Given the description of an element on the screen output the (x, y) to click on. 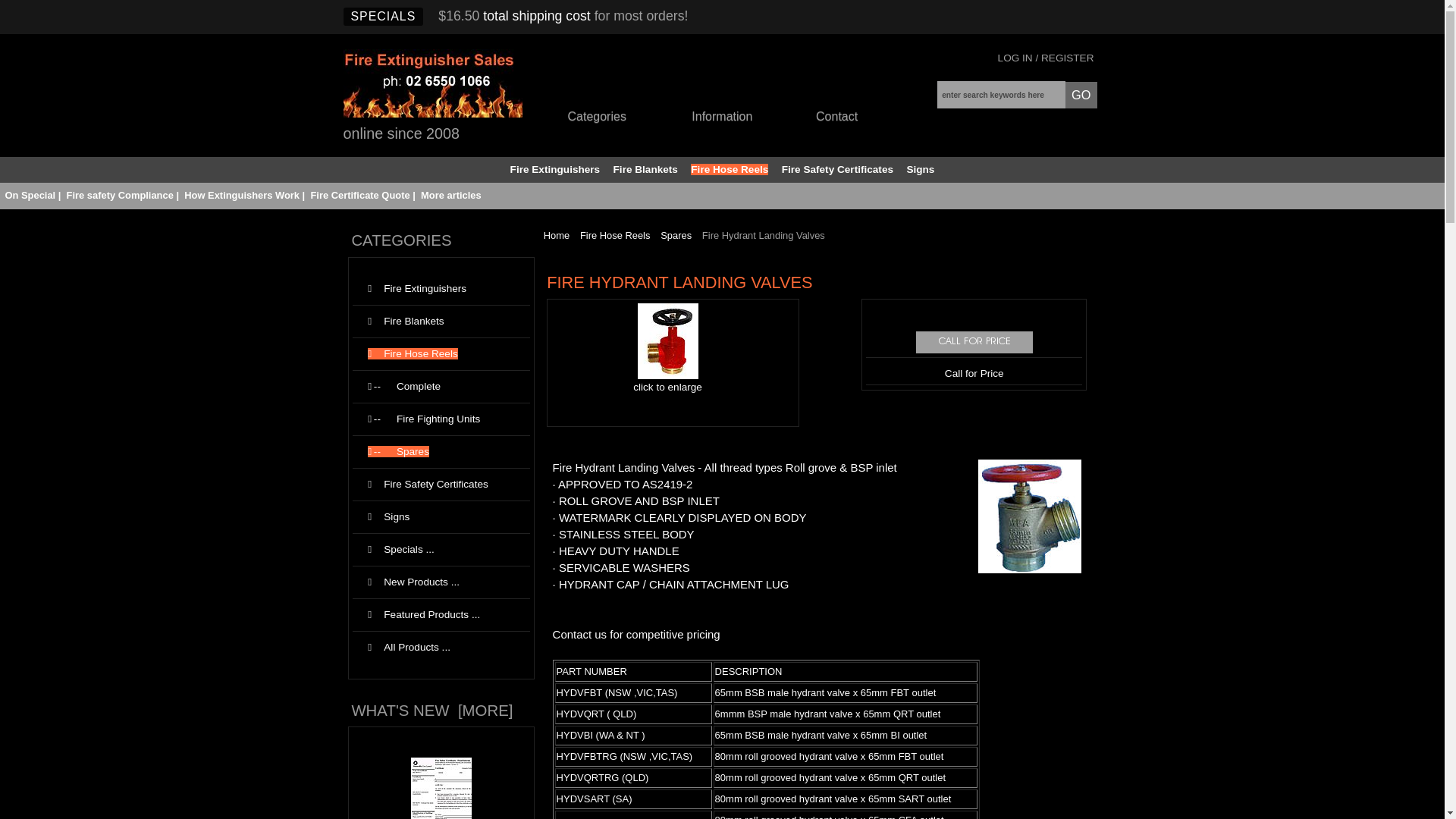
  --Spares
17 Element type: text (441, 452)
LOG IN / REGISTER Element type: text (1045, 57)
SPECIALS Element type: text (382, 15)
All Products ... Element type: text (441, 647)
Contact Element type: text (841, 118)
Fire Blankets Element type: text (645, 169)
Spares Element type: text (675, 235)
New Products ... Element type: text (441, 582)
Call for Price Element type: text (974, 373)
Fire Certificate Quote Element type: text (359, 194)
Fire Hose Reels Element type: text (615, 235)
Fire Extinguishers
142 Element type: text (441, 289)
go Element type: text (1081, 94)
total shipping cost Element type: text (536, 15)
Signs
15 Element type: text (441, 517)
  --Fire Fighting Units
11 Element type: text (441, 419)
click to enlarge Element type: text (667, 381)
Fire safety Compliance Element type: text (119, 194)
Contact us Element type: text (579, 633)
Fire Hose Reels Element type: text (730, 169)
Fire Safety Certificates Element type: text (837, 169)
Fire Hose Reels
42 Element type: text (441, 354)
Categories Element type: text (615, 118)
Fire Extinguishers Element type: text (555, 169)
More articles Element type: text (450, 194)
Fire Safety Certificates
36 Element type: text (441, 484)
 Fire Hydrant Landing Valve CFA  Element type: hover (1029, 516)
Information Element type: text (739, 118)
Fire Blankets
5 Element type: text (441, 321)
WHAT'S NEW  [MORE] Element type: text (431, 710)
On Special Element type: text (29, 194)
Home Element type: text (556, 235)
  --Complete
14 Element type: text (441, 386)
Signs Element type: text (920, 169)
 Fire Extinguisher Sales  Element type: hover (431, 83)
How Extinguishers Work Element type: text (241, 194)
Specials ... Element type: text (441, 549)
 Call for Price  Element type: hover (974, 342)
 Fire Hydrant Landing Valves  Element type: hover (667, 341)
Featured Products ... Element type: text (441, 615)
